Given the description of an element on the screen output the (x, y) to click on. 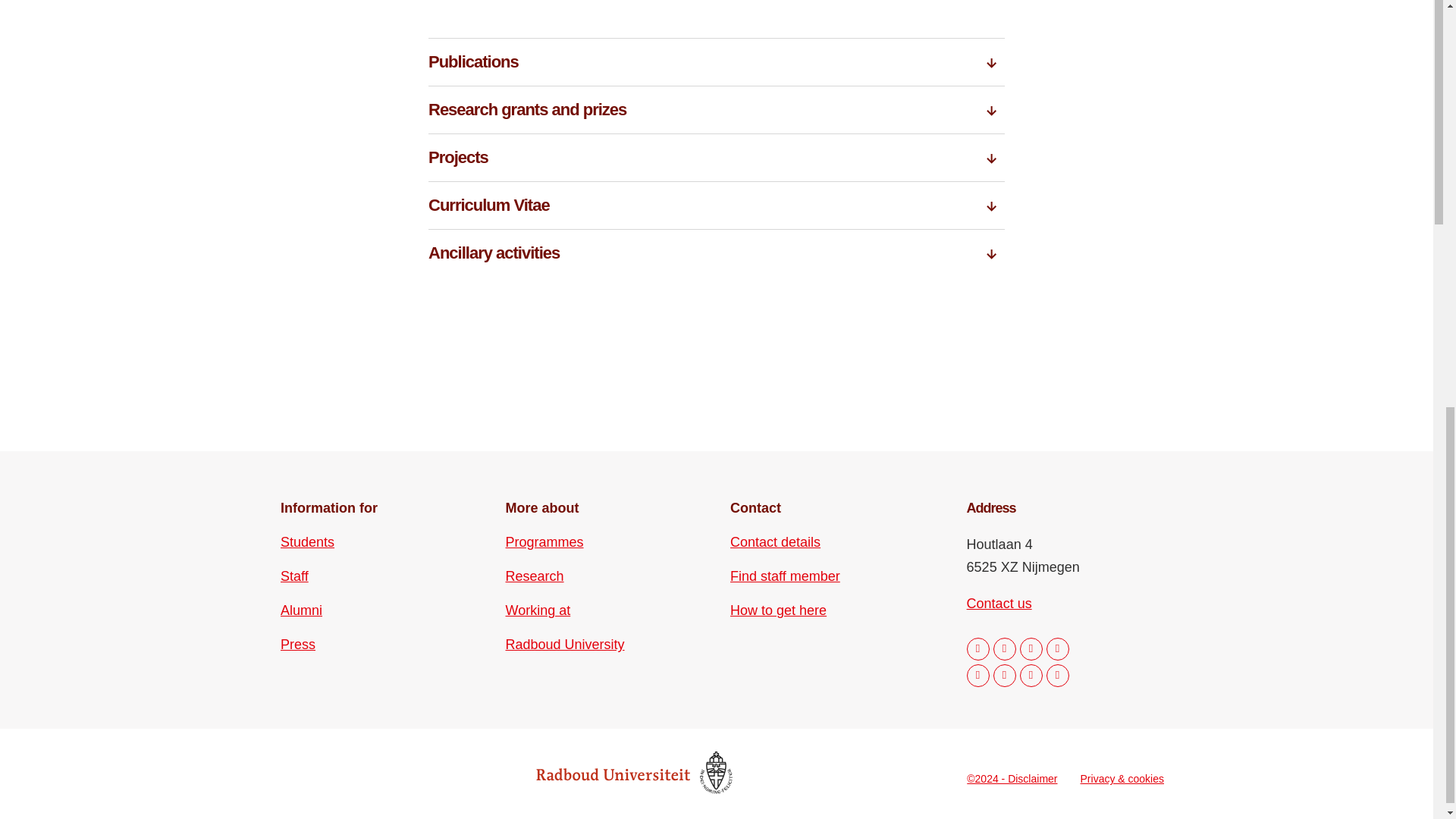
Facebook (978, 649)
YouTube (1004, 675)
LinkedIn (1031, 649)
SnapChat (1057, 675)
Information about our campus and how to get here (778, 609)
Mastodon (1057, 649)
Instagram (1004, 649)
X (978, 675)
TikTok (1031, 675)
